Given the description of an element on the screen output the (x, y) to click on. 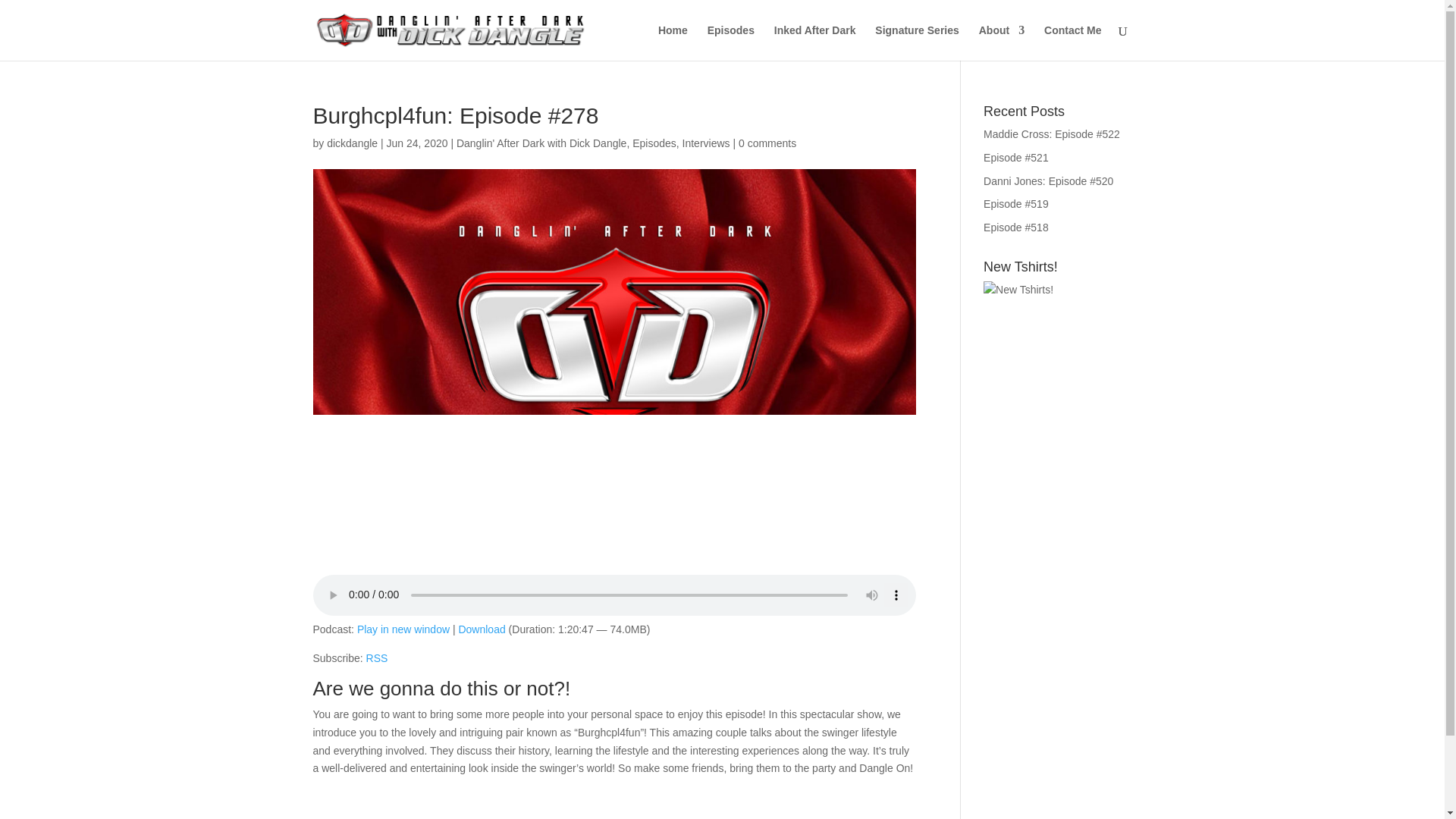
Episodes (730, 42)
Interviews (706, 143)
0 comments (767, 143)
Posts by dickdangle (351, 143)
dickdangle (351, 143)
Download (481, 629)
Signature Series (917, 42)
Danglin' After Dark with Dick Dangle (541, 143)
Episodes (654, 143)
Play in new window (402, 629)
